Given the description of an element on the screen output the (x, y) to click on. 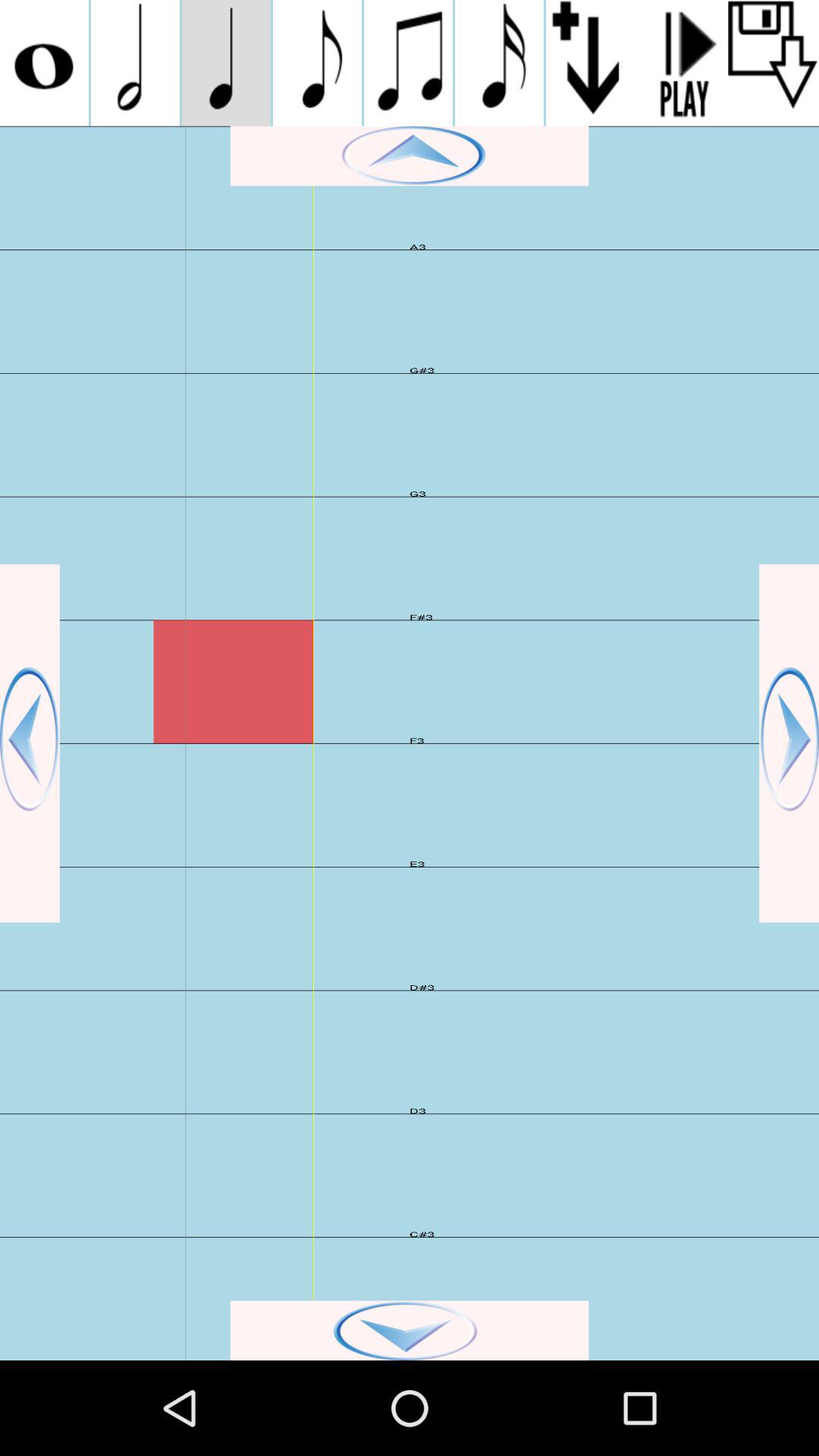
ok (409, 1330)
